Given the description of an element on the screen output the (x, y) to click on. 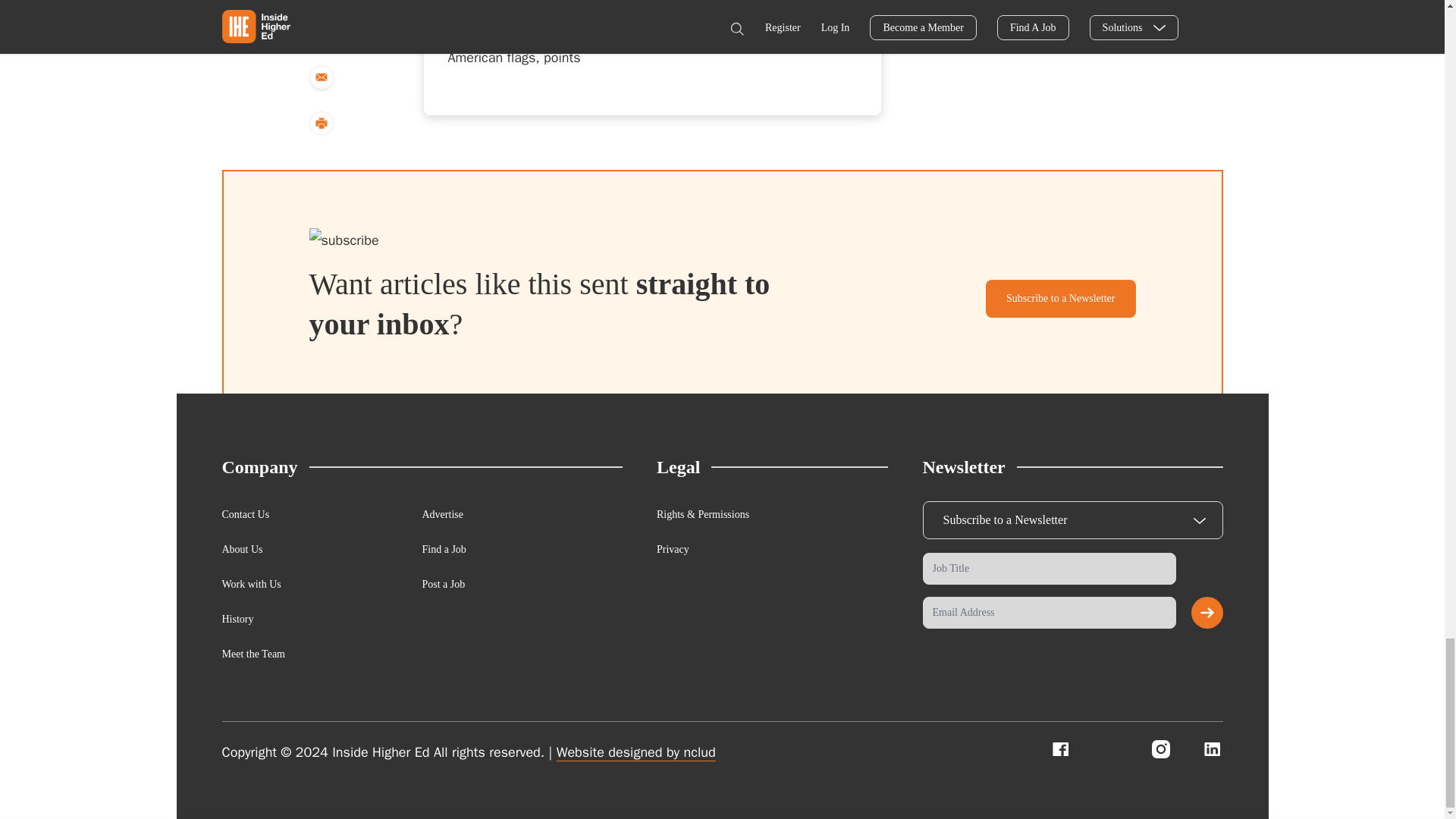
Submit (1207, 612)
